Given the description of an element on the screen output the (x, y) to click on. 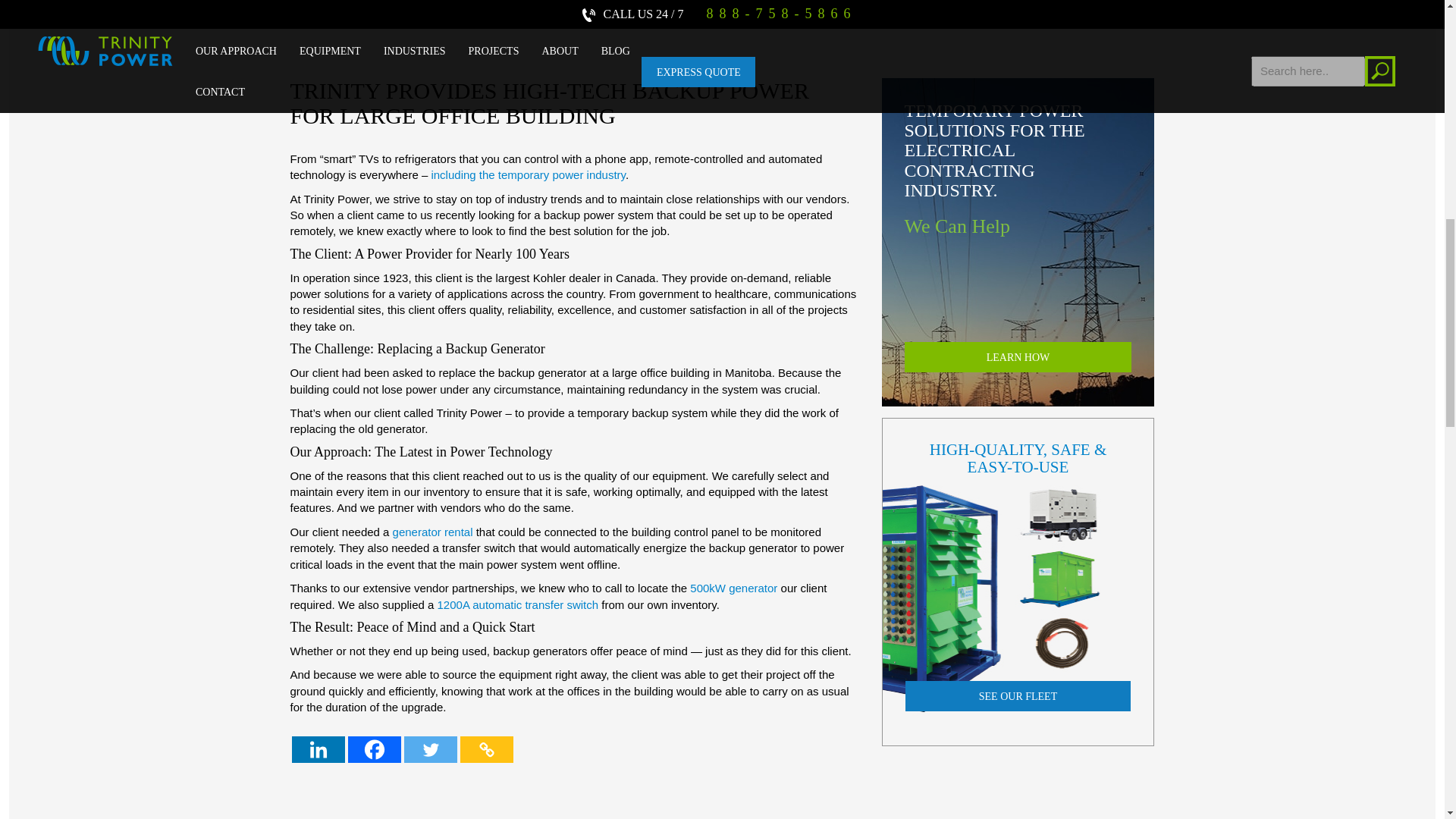
Linkedin (317, 749)
Twitter (430, 749)
Copy Link (486, 749)
Facebook (373, 749)
